Given the description of an element on the screen output the (x, y) to click on. 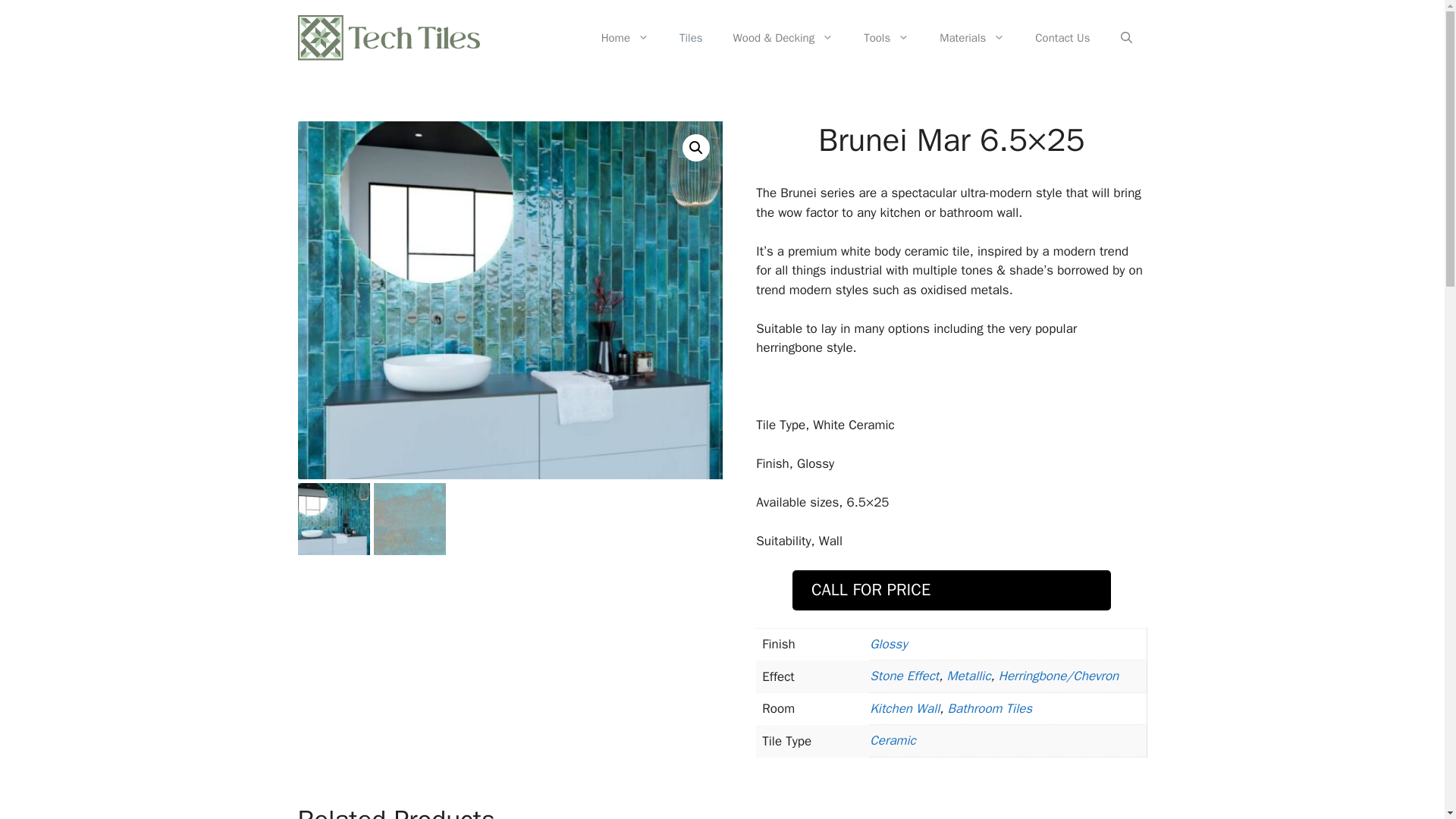
Contact Us (1062, 37)
Home (624, 37)
Tools (886, 37)
Tiles (690, 37)
Materials (972, 37)
